Given the description of an element on the screen output the (x, y) to click on. 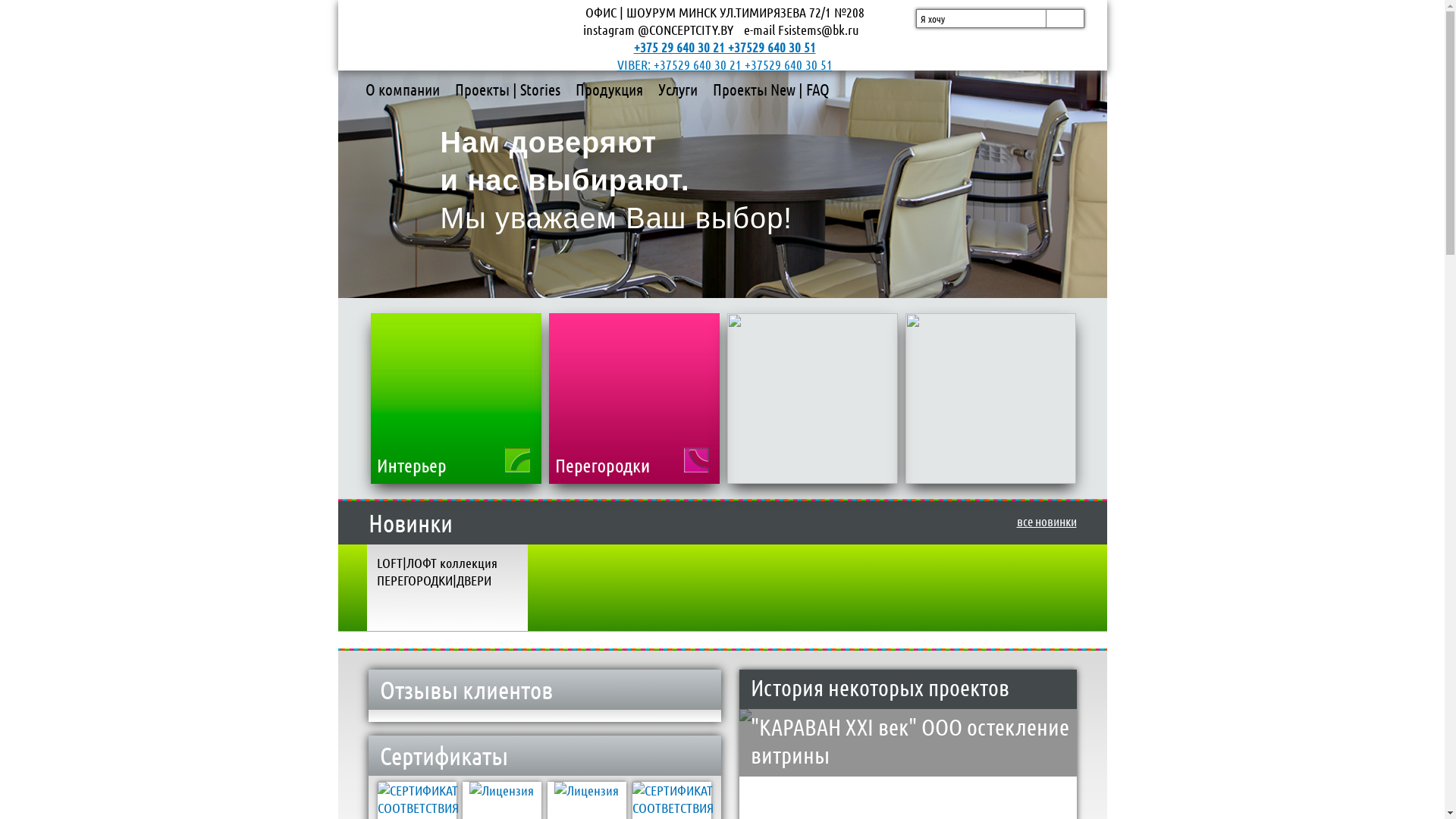
Next Element type: text (1055, 182)
ART DOORS Element type: text (860, 327)
VIBER: +37529 640 30 21 +37529 640 30 51 Element type: text (724, 64)
+375 29 640 30 21 +37529 640 30 51 Element type: text (724, 46)
Previous Element type: text (389, 182)
ConceptCity Element type: hover (456, 38)
